Given the description of an element on the screen output the (x, y) to click on. 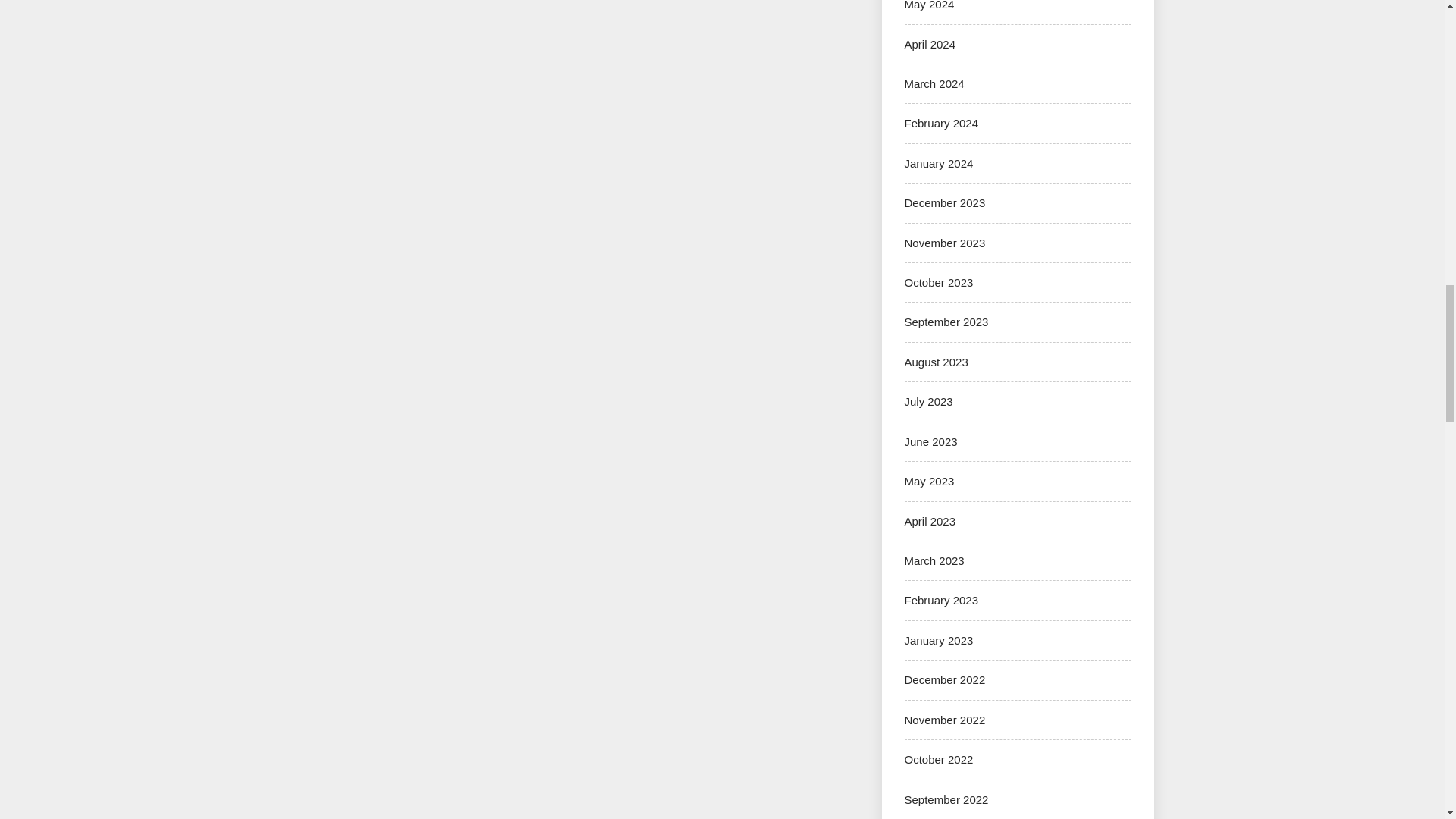
June 2023 (930, 440)
October 2023 (938, 282)
May 2024 (928, 5)
July 2023 (928, 400)
January 2024 (938, 163)
April 2024 (929, 43)
September 2023 (946, 321)
February 2024 (941, 123)
December 2023 (944, 202)
April 2023 (929, 521)
